Given the description of an element on the screen output the (x, y) to click on. 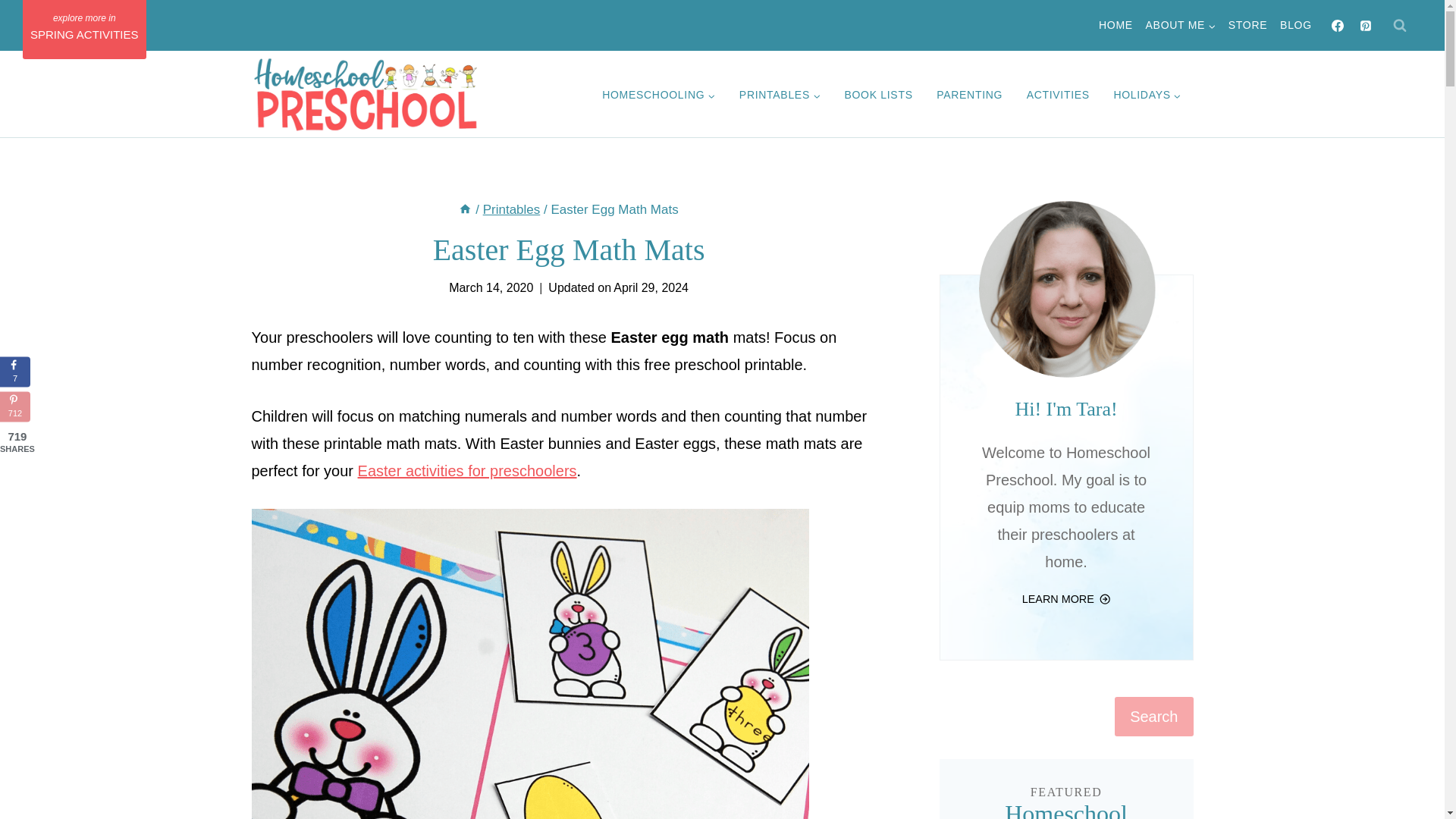
Save to Pinterest (15, 407)
HOME (1116, 25)
BLOG (1296, 25)
Share on Facebook (15, 372)
BOOK LISTS (878, 95)
STORE (1246, 25)
HOMESCHOOLING (657, 95)
Easter activities for preschoolers (467, 470)
Printables (511, 209)
SPRING ACTIVITIES (85, 29)
